Given the description of an element on the screen output the (x, y) to click on. 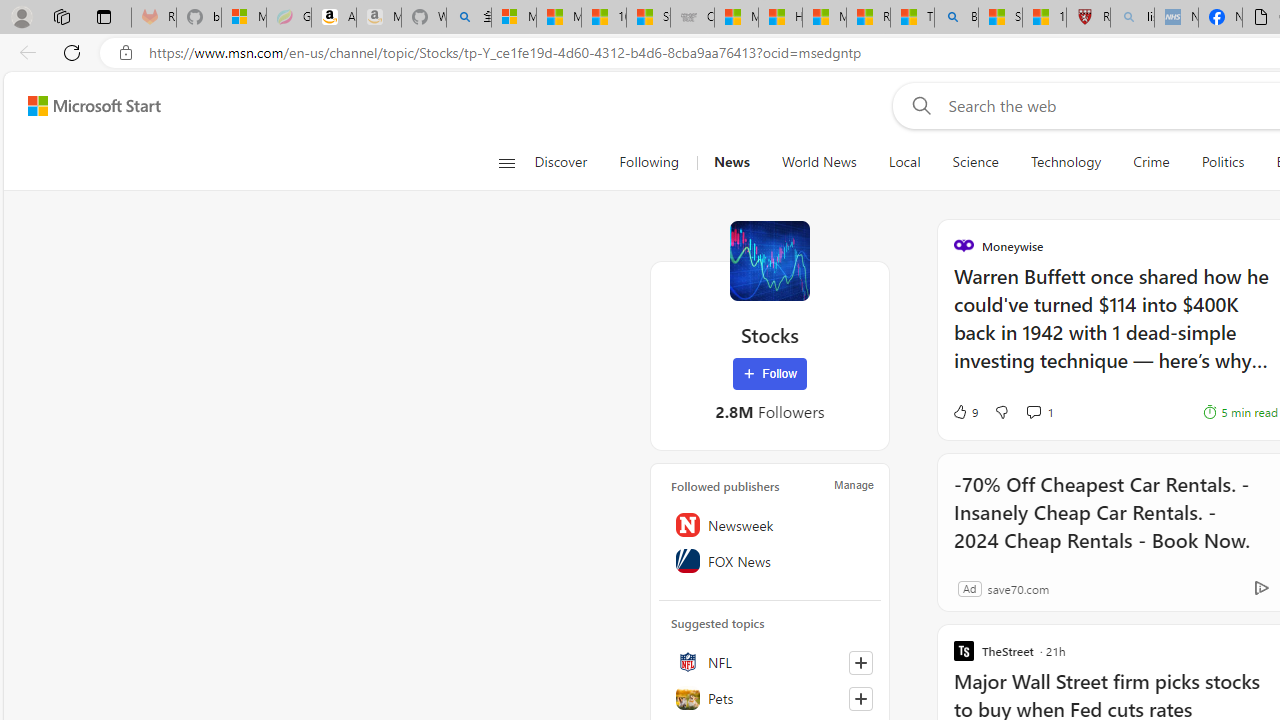
Ad Choice (1261, 588)
Follow this topic (860, 698)
Pets (770, 697)
Following (649, 162)
Science (975, 162)
Politics (1222, 162)
Newsweek (770, 525)
Robert H. Shmerling, MD - Harvard Health (1088, 17)
Stocks (769, 260)
